Given the description of an element on the screen output the (x, y) to click on. 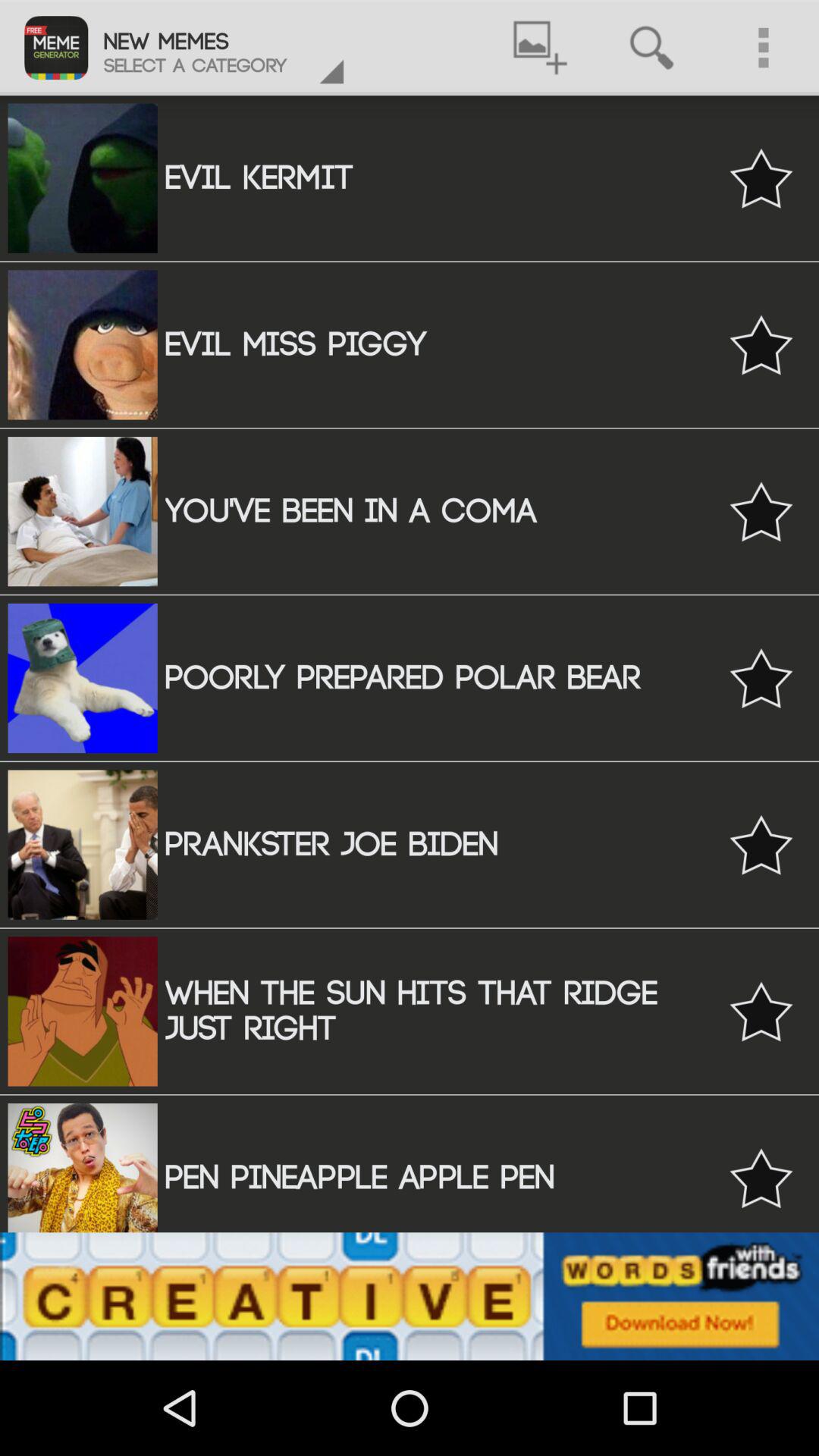
favourite option (761, 1011)
